Given the description of an element on the screen output the (x, y) to click on. 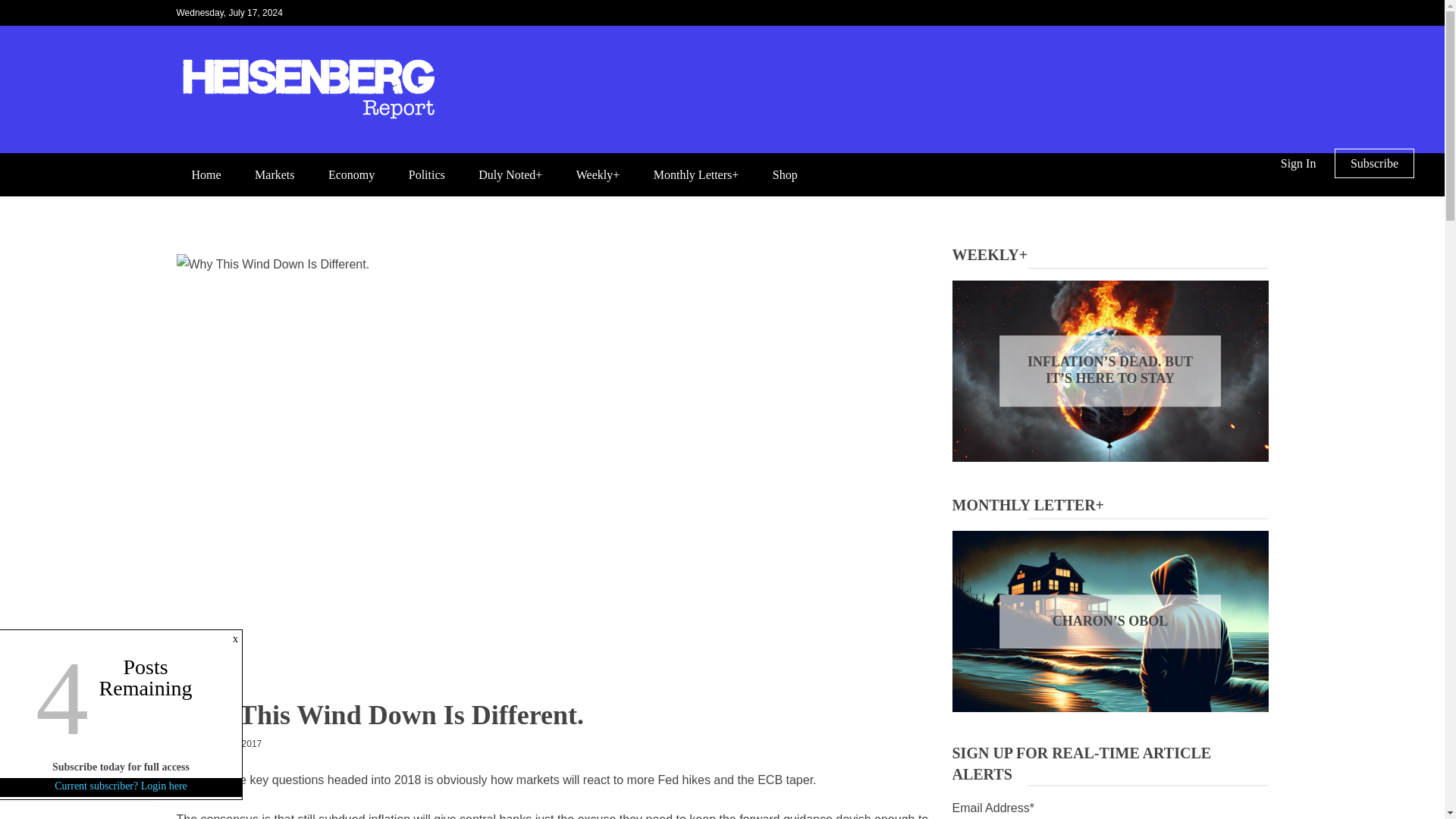
Sign In (1298, 163)
Markets (274, 174)
Politics (426, 174)
Subscribe (1374, 163)
Economy (351, 174)
Shop (784, 174)
HEISENBERG REPORT (351, 151)
Home (205, 174)
Monthly Letter (1131, 626)
November 27, 2017 (222, 743)
